Given the description of an element on the screen output the (x, y) to click on. 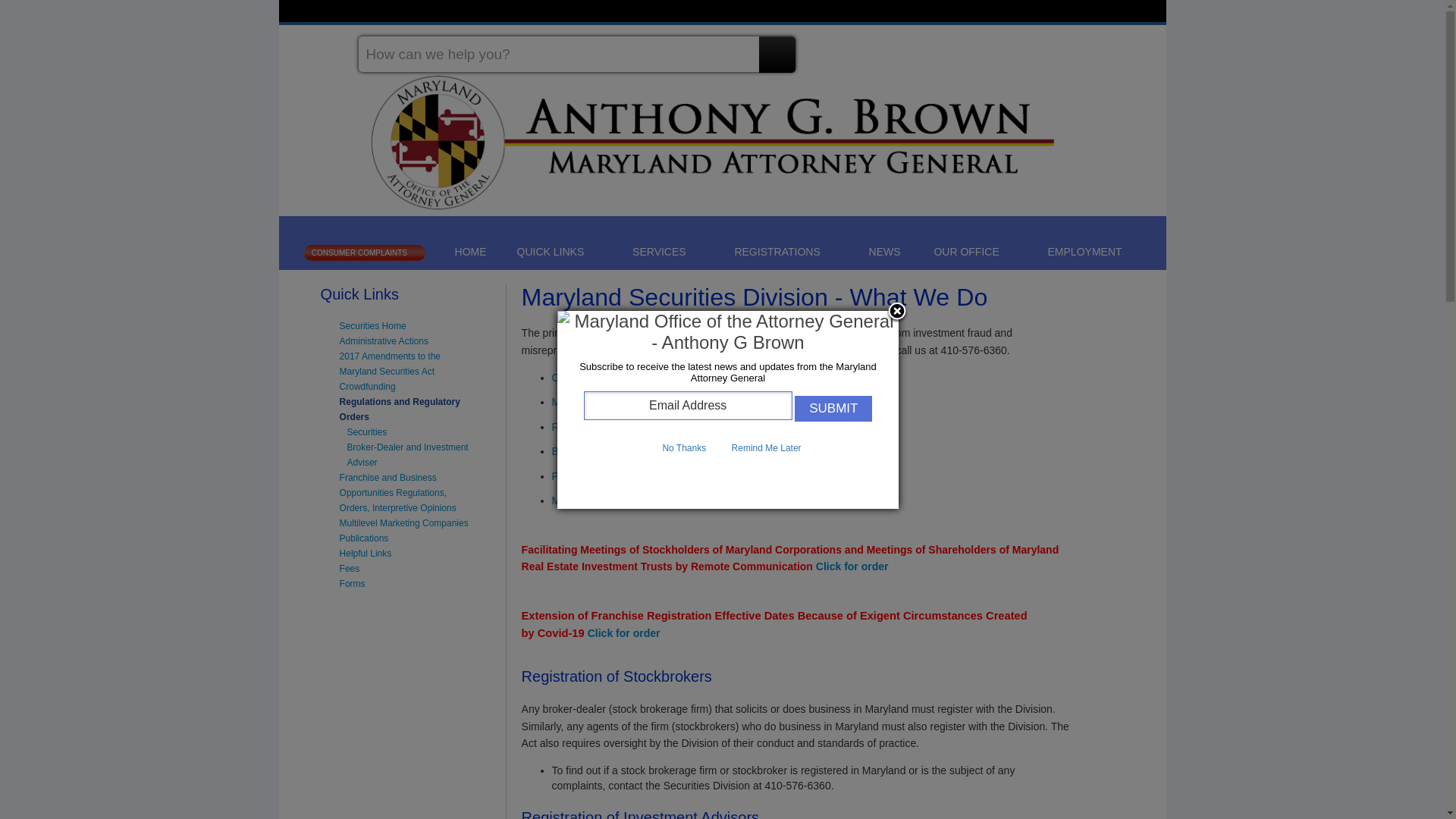
Submit (833, 408)
How can we help you? (576, 54)
Flickr (1141, 48)
Flickr (1141, 48)
SERVICES (666, 251)
Twitter (1058, 48)
Email Address (687, 405)
How can we help you? (576, 54)
Twitter (1058, 48)
QUICK LINKS (558, 251)
